Given the description of an element on the screen output the (x, y) to click on. 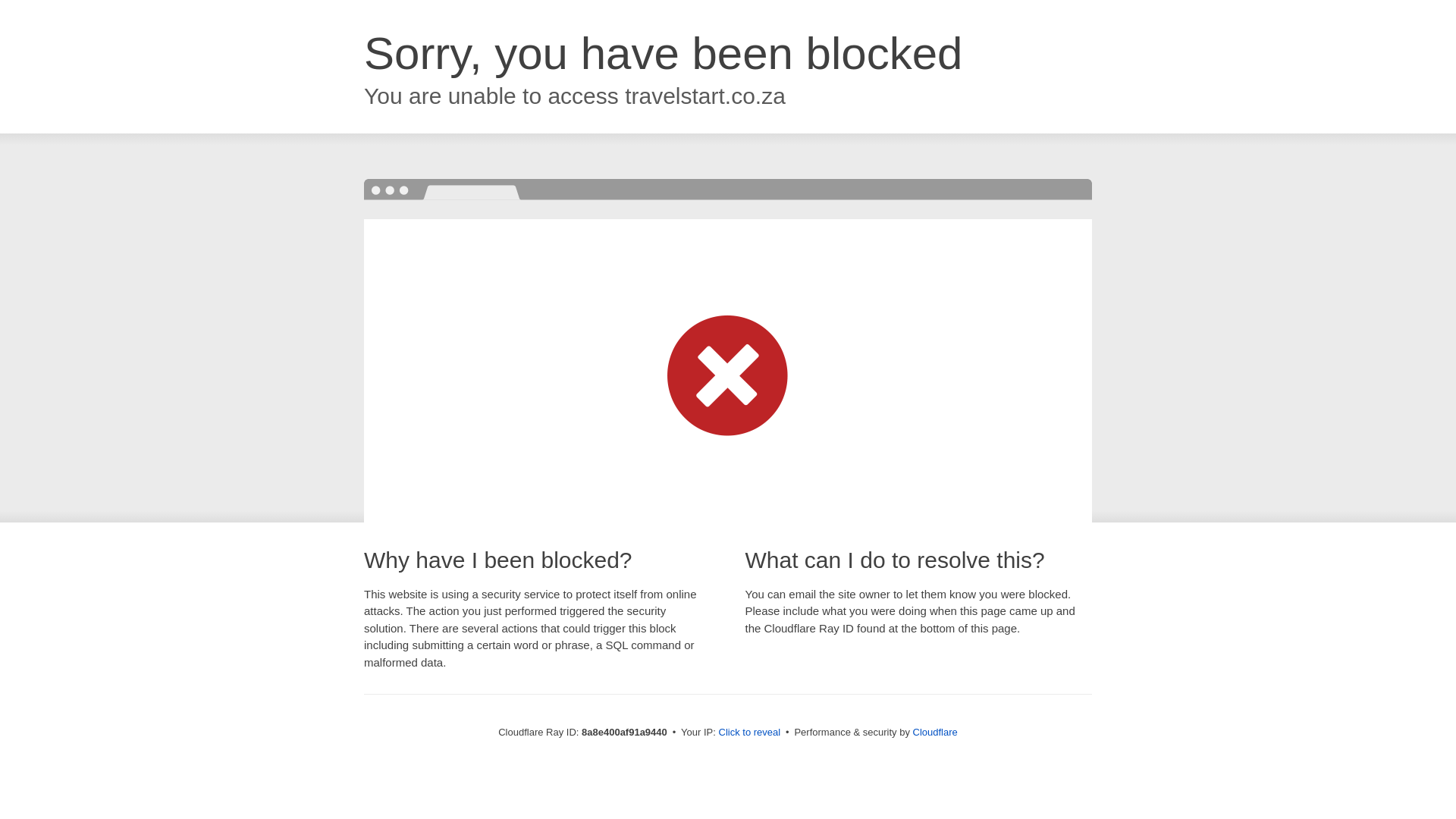
Cloudflare (935, 731)
Click to reveal (749, 732)
